Given the description of an element on the screen output the (x, y) to click on. 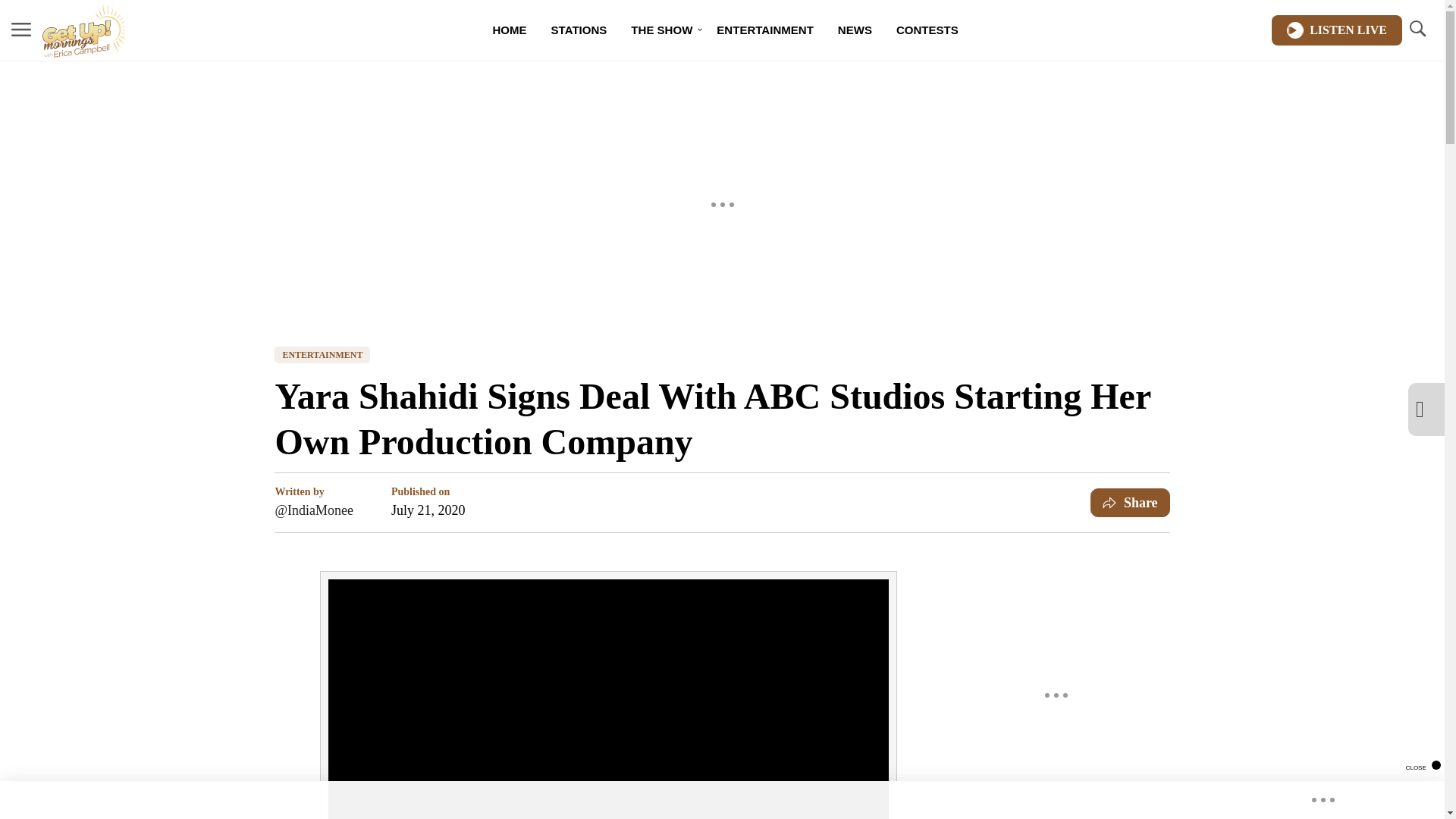
STATIONS (579, 30)
MENU (20, 29)
HOME (509, 30)
LISTEN LIVE (1336, 30)
Share (1130, 502)
THE SHOW (661, 30)
ENTERTAINMENT (764, 30)
TOGGLE SEARCH (1417, 30)
MENU (20, 30)
CONTESTS (927, 30)
TOGGLE SEARCH (1417, 28)
NEWS (854, 30)
ENTERTAINMENT (322, 354)
